Given the description of an element on the screen output the (x, y) to click on. 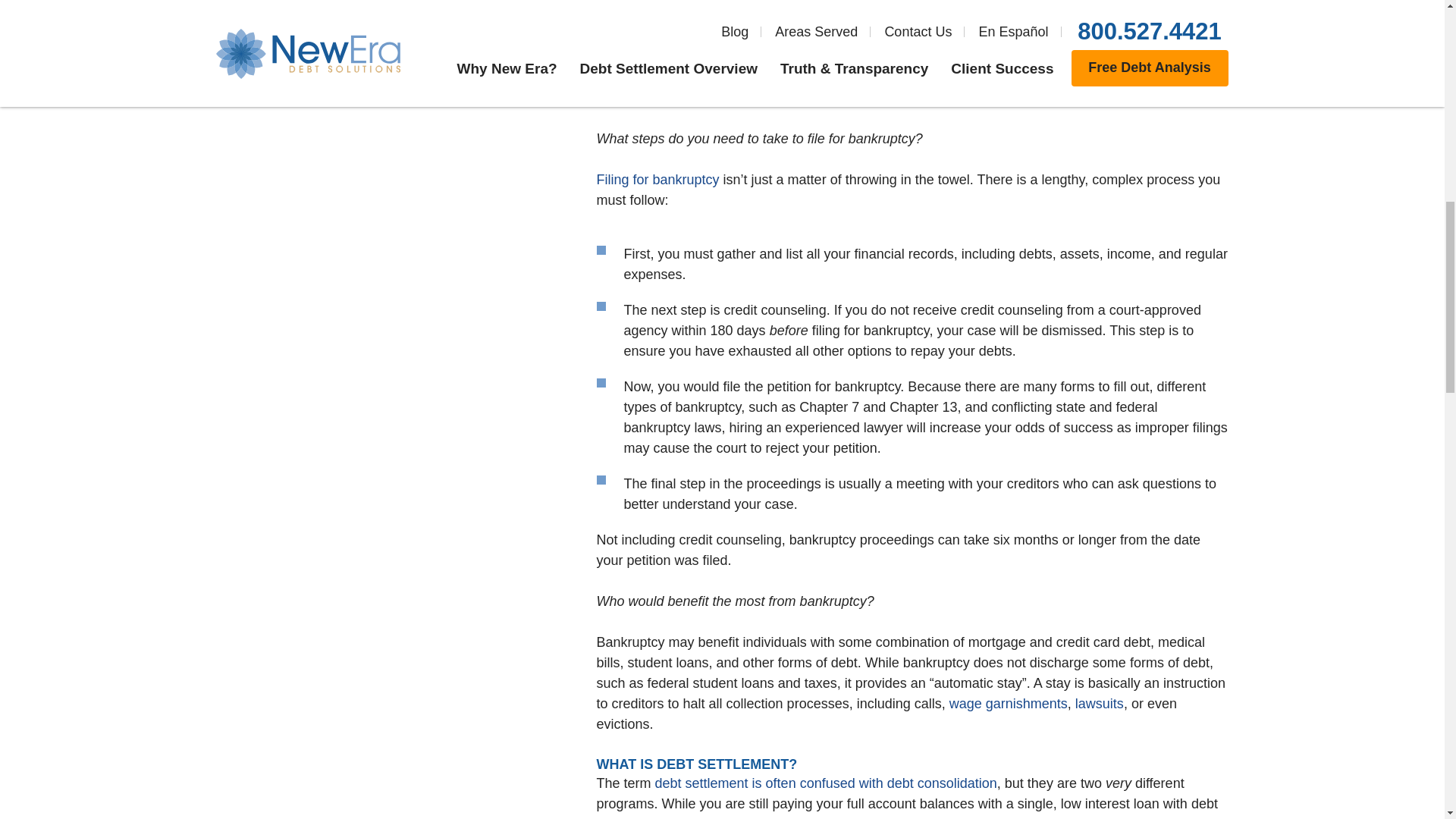
wage garnishments (1008, 703)
OR EMAIL US (316, 13)
debt settlement is often confused with debt consolidation (826, 783)
Filing for bankruptcy (657, 179)
lawsuits (1099, 703)
